Given the description of an element on the screen output the (x, y) to click on. 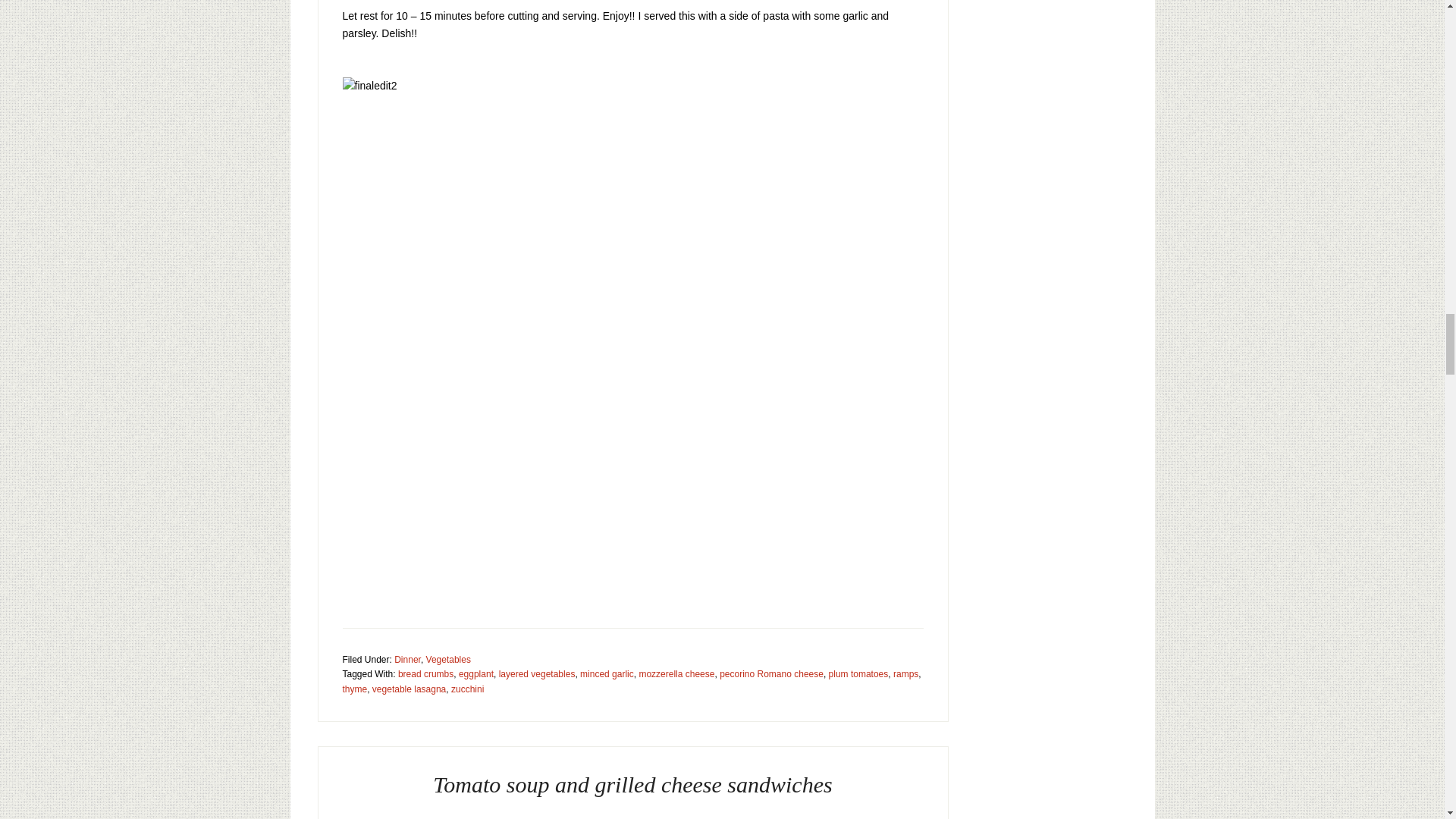
thyme (355, 688)
eggplant (475, 674)
Vegetables (448, 659)
Tomato soup and grilled cheese sandwiches (631, 784)
mozzerella cheese (676, 674)
ramps (905, 674)
bread crumbs (424, 674)
Dinner (407, 659)
pecorino Romano cheese (771, 674)
plum tomatoes (858, 674)
